Given the description of an element on the screen output the (x, y) to click on. 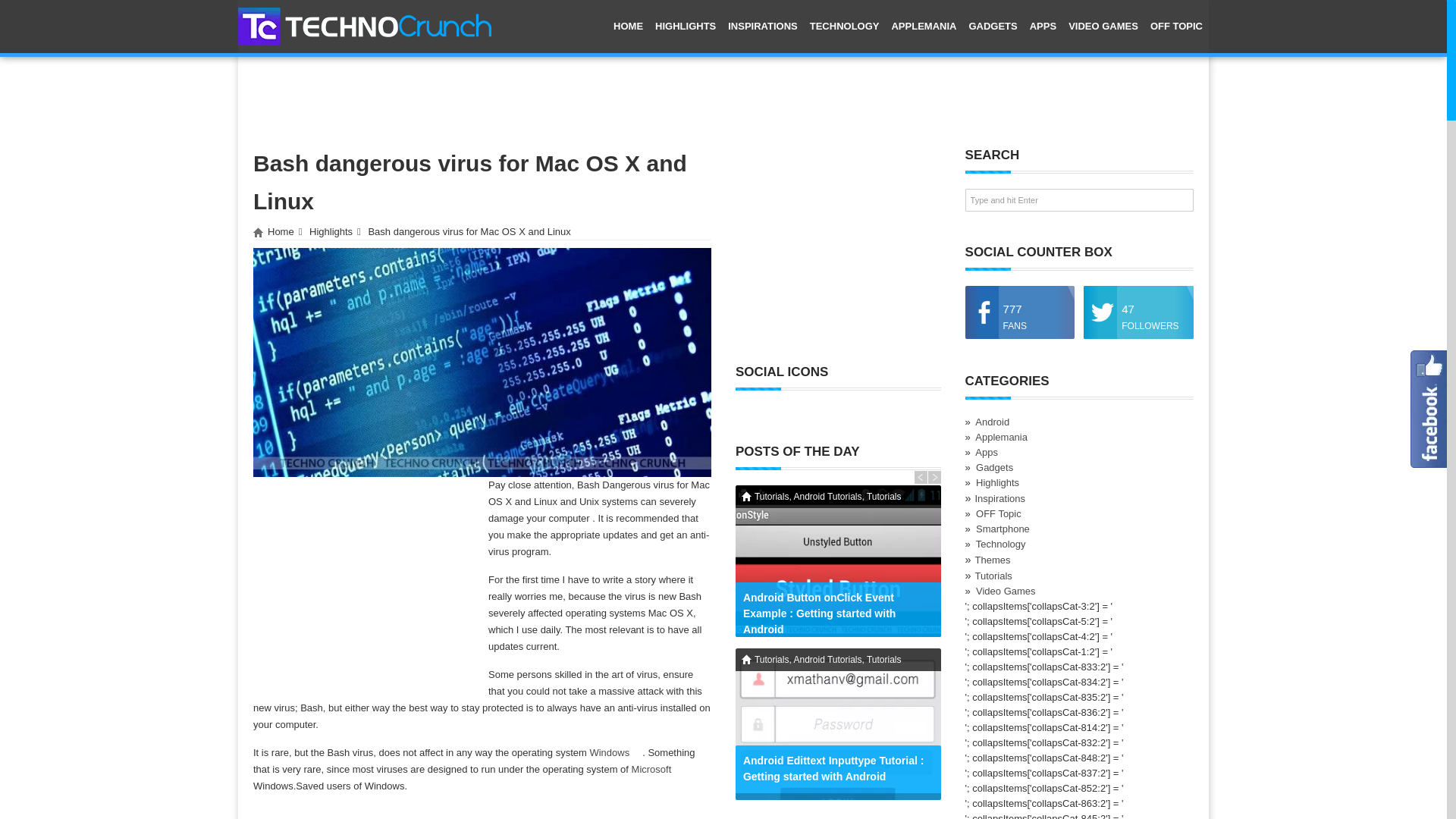
Technology (844, 26)
Highlights (330, 231)
Applemania (923, 26)
Microsoft (657, 768)
APPLEMANIA (923, 26)
TechnoCrunch (365, 25)
Inspirations (762, 26)
Highlights (685, 26)
Windows (615, 752)
INSPIRATIONS (762, 26)
